Given the description of an element on the screen output the (x, y) to click on. 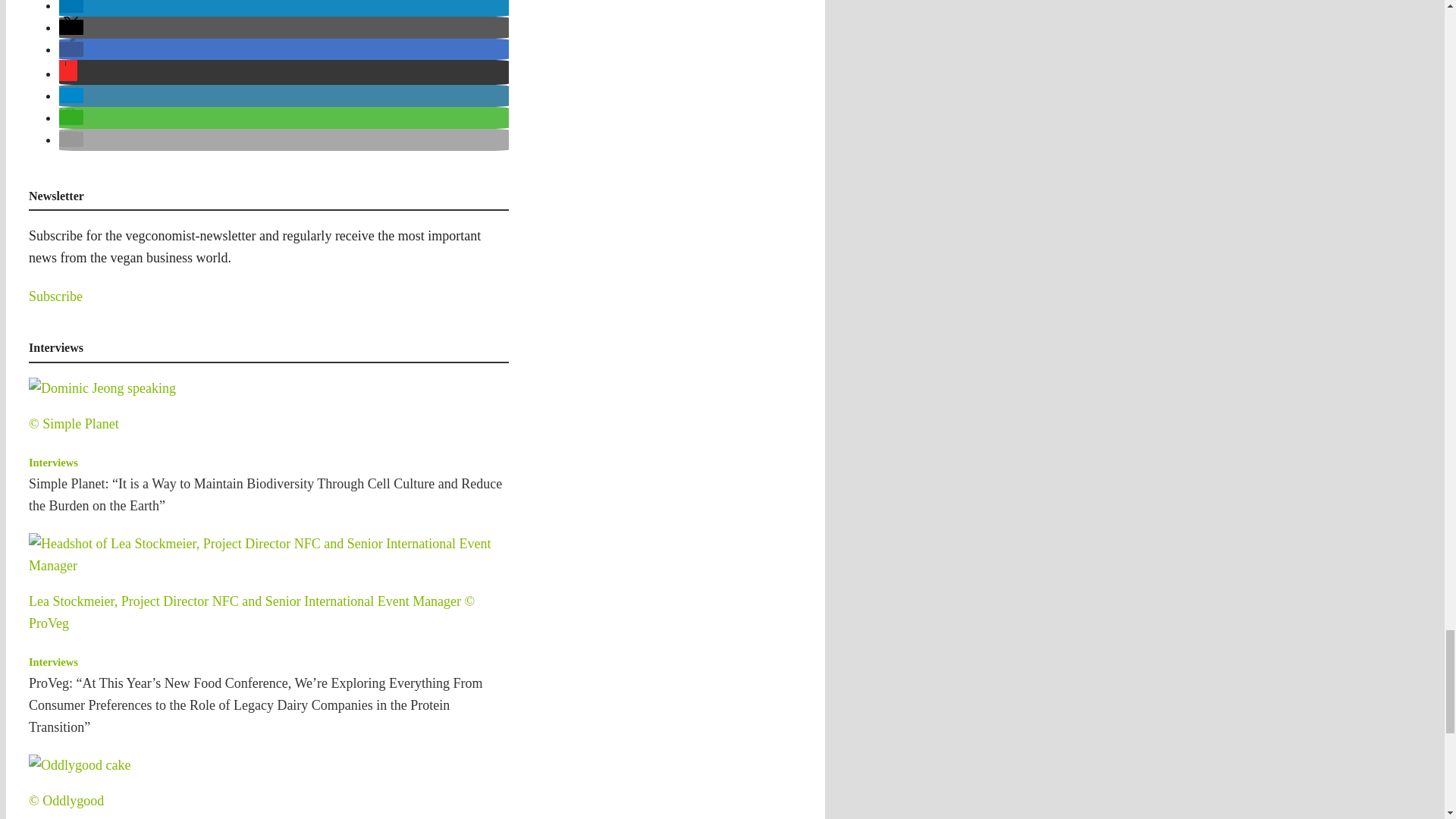
Share on Whatsapp (70, 117)
Share on Facebook (70, 48)
Share on LinkedIn (70, 6)
Send by email (70, 139)
Share on X (70, 27)
Share on Telegram (70, 95)
Share on Flipboard (68, 73)
